Given the description of an element on the screen output the (x, y) to click on. 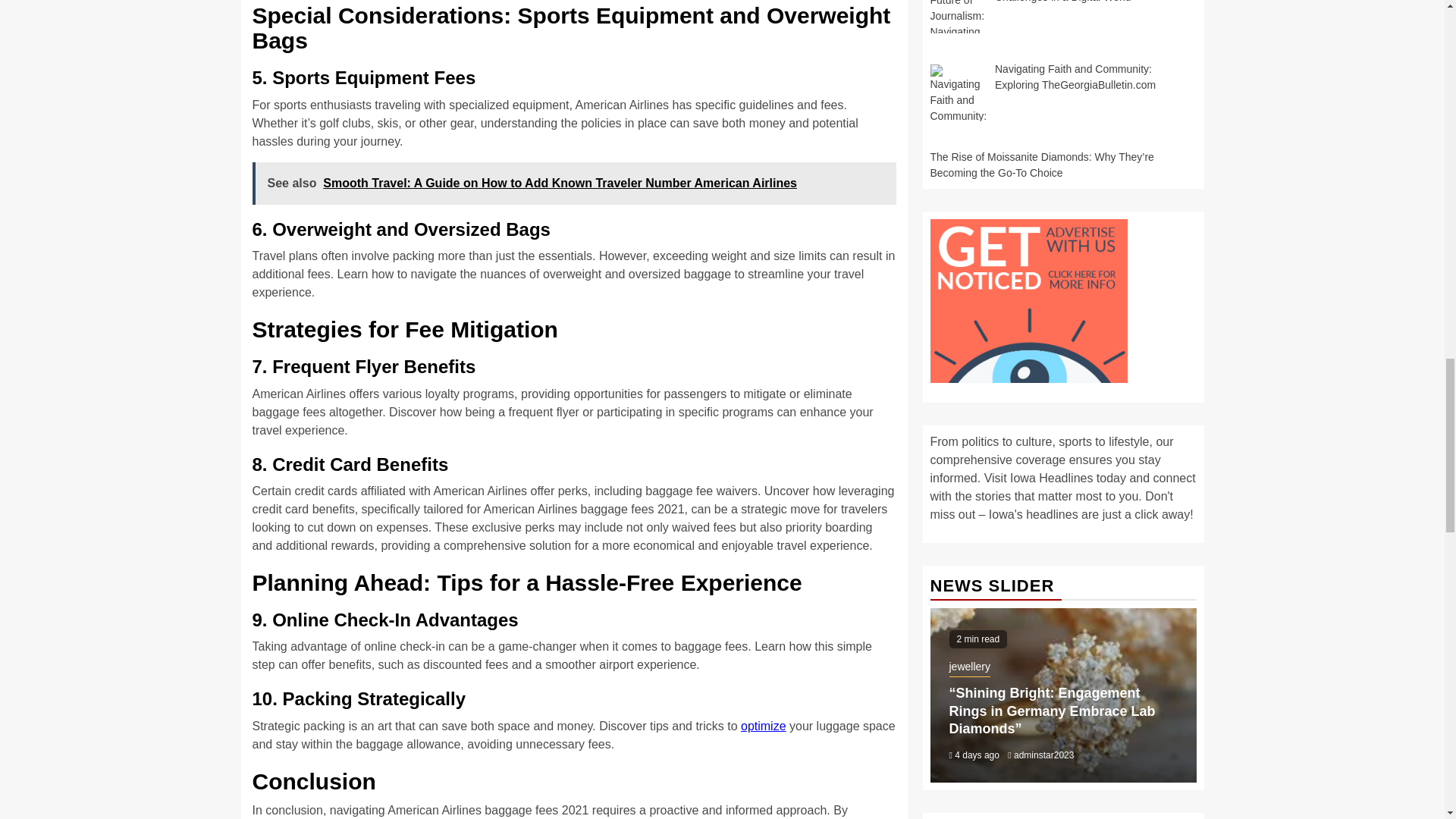
optimize (763, 725)
